Given the description of an element on the screen output the (x, y) to click on. 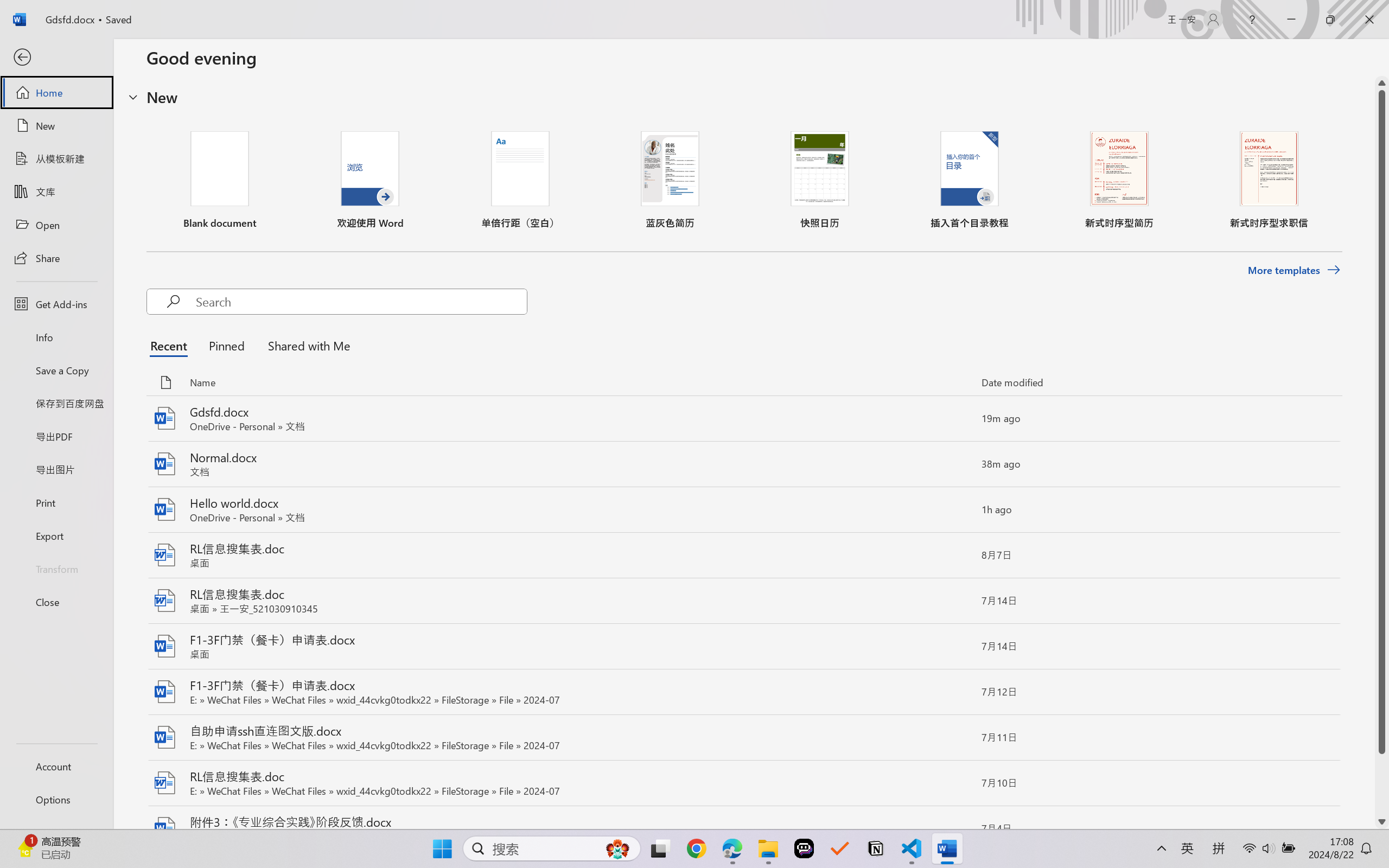
Print (56, 502)
Shared with Me (305, 345)
Blank document (219, 180)
Get Add-ins (56, 303)
Class: NetUIScrollBar (1382, 452)
More templates (1293, 270)
Line up (1382, 83)
Search (360, 301)
